Given the description of an element on the screen output the (x, y) to click on. 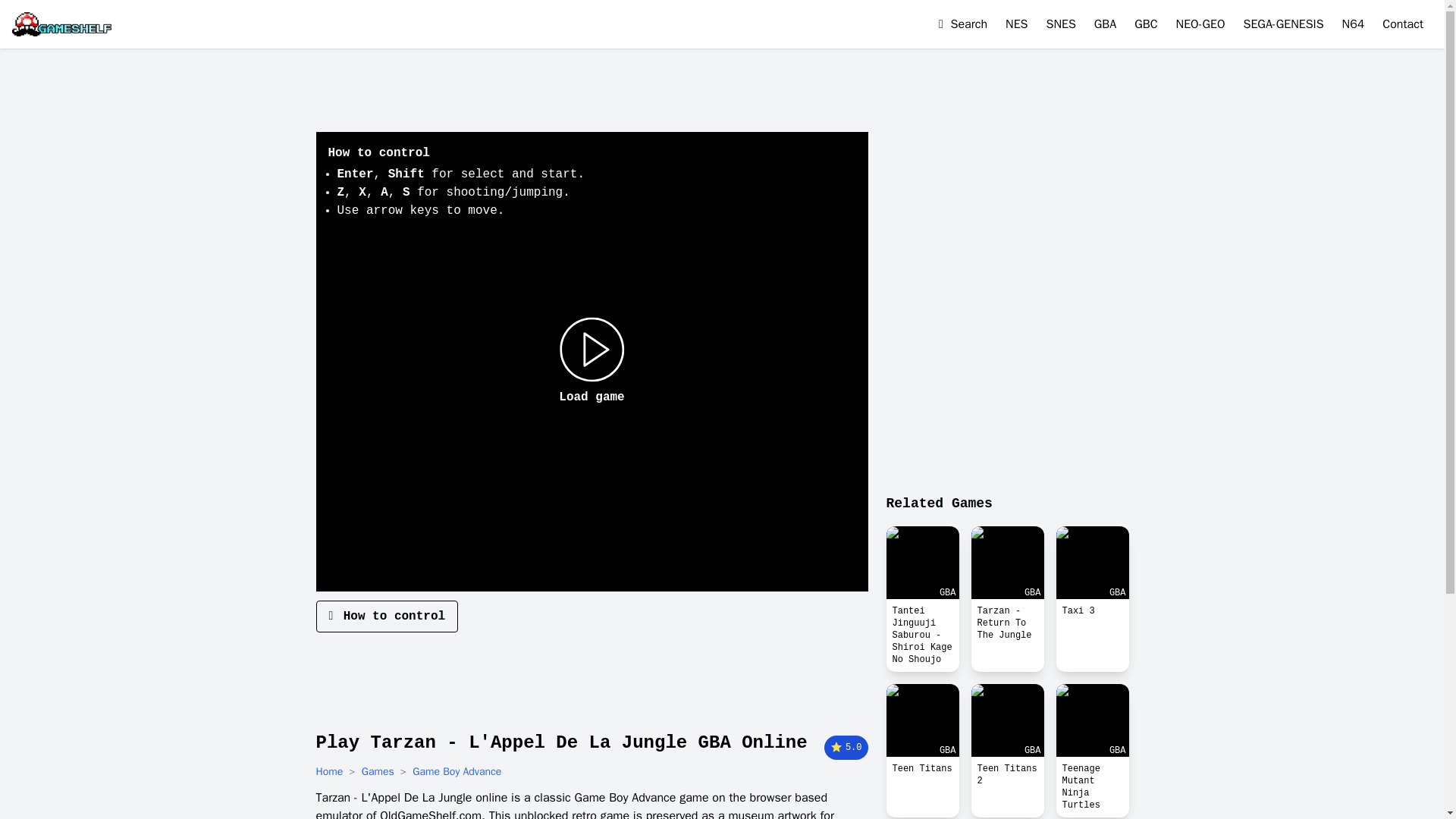
Home (328, 771)
Teen Titans (921, 768)
Tantei Jinguuji Saburou - Shiroi Kage No Shoujo (921, 634)
Nintendo 64 (1353, 23)
GBA (1105, 23)
GBA (1007, 562)
Taxi 3 (1091, 610)
GBA (921, 719)
Tarzan - Return To The Jungle (1007, 622)
Game Boy Advance (456, 771)
Tarzan - Return To The Jungle (1007, 622)
NEO-GEO (1200, 23)
N64 (1353, 23)
Game Boy Advance (456, 771)
NES (1016, 23)
